Given the description of an element on the screen output the (x, y) to click on. 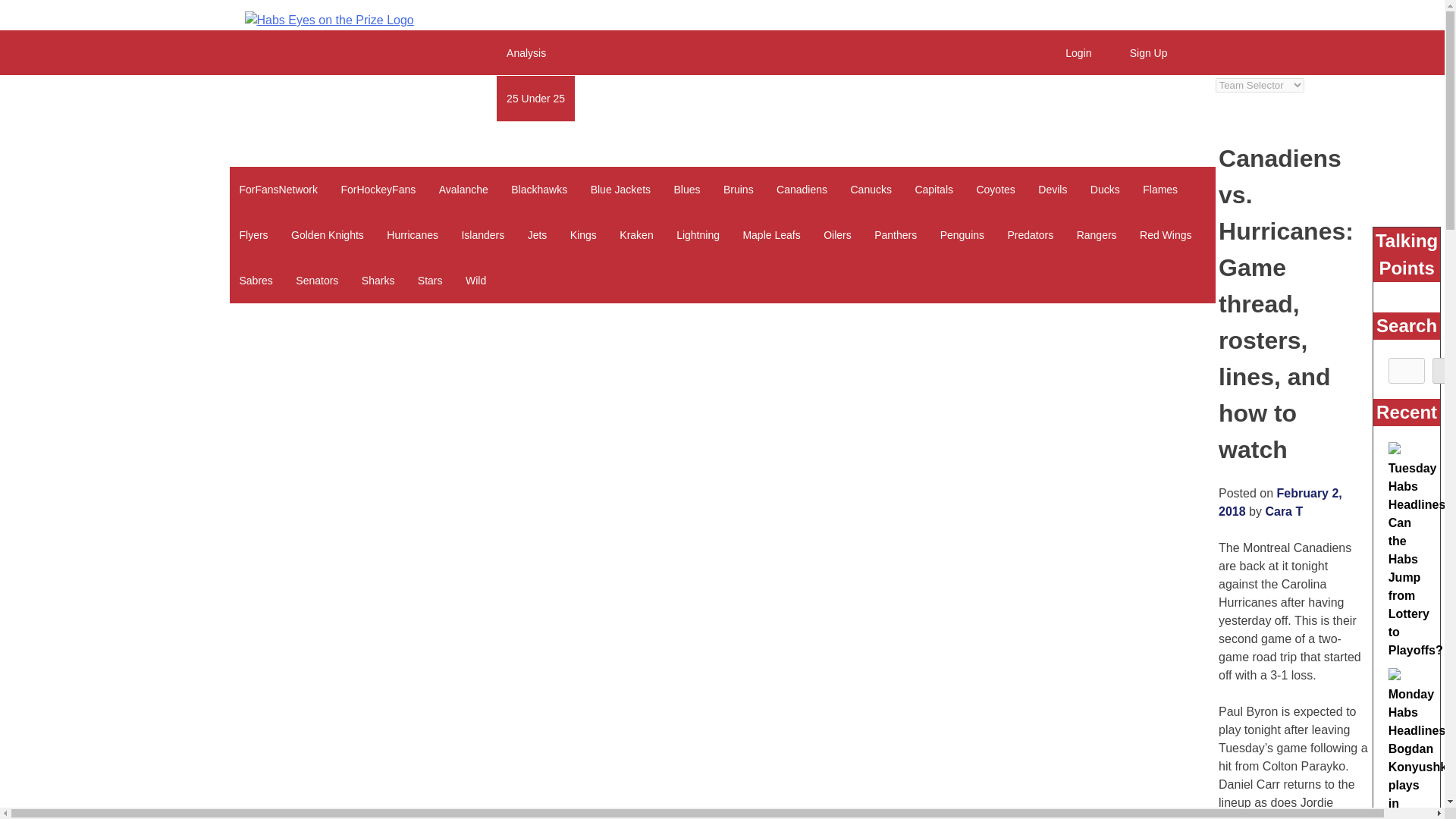
Depth Chart (454, 98)
2024 World Juniors (283, 98)
Devils (1052, 189)
Islanders (482, 234)
Kraken (636, 234)
Feedback (611, 98)
Canadiens (802, 189)
Support Us (683, 98)
Canucks (870, 189)
Lightning (697, 234)
Teams (253, 143)
25 Under 25 (535, 98)
Penguins (962, 234)
Blackhawks (538, 189)
Golden Knights (327, 234)
